Given the description of an element on the screen output the (x, y) to click on. 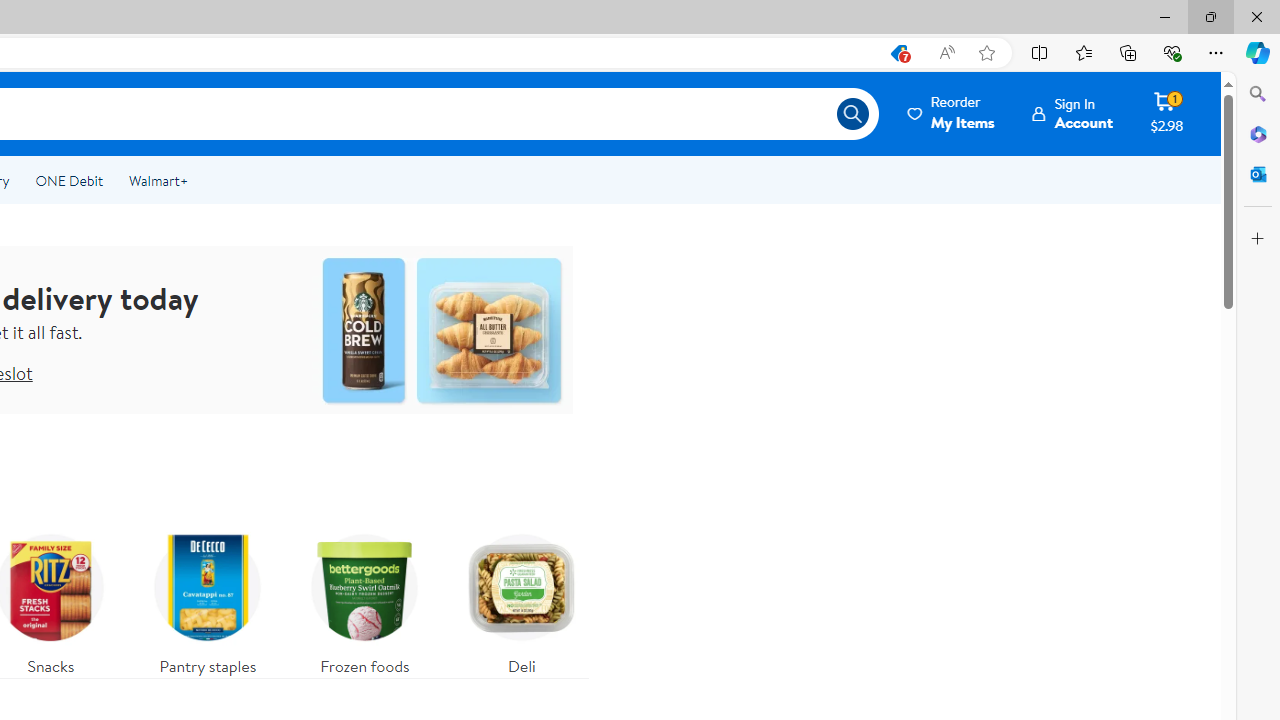
Frozen foods (364, 599)
Deli (521, 599)
